Given the description of an element on the screen output the (x, y) to click on. 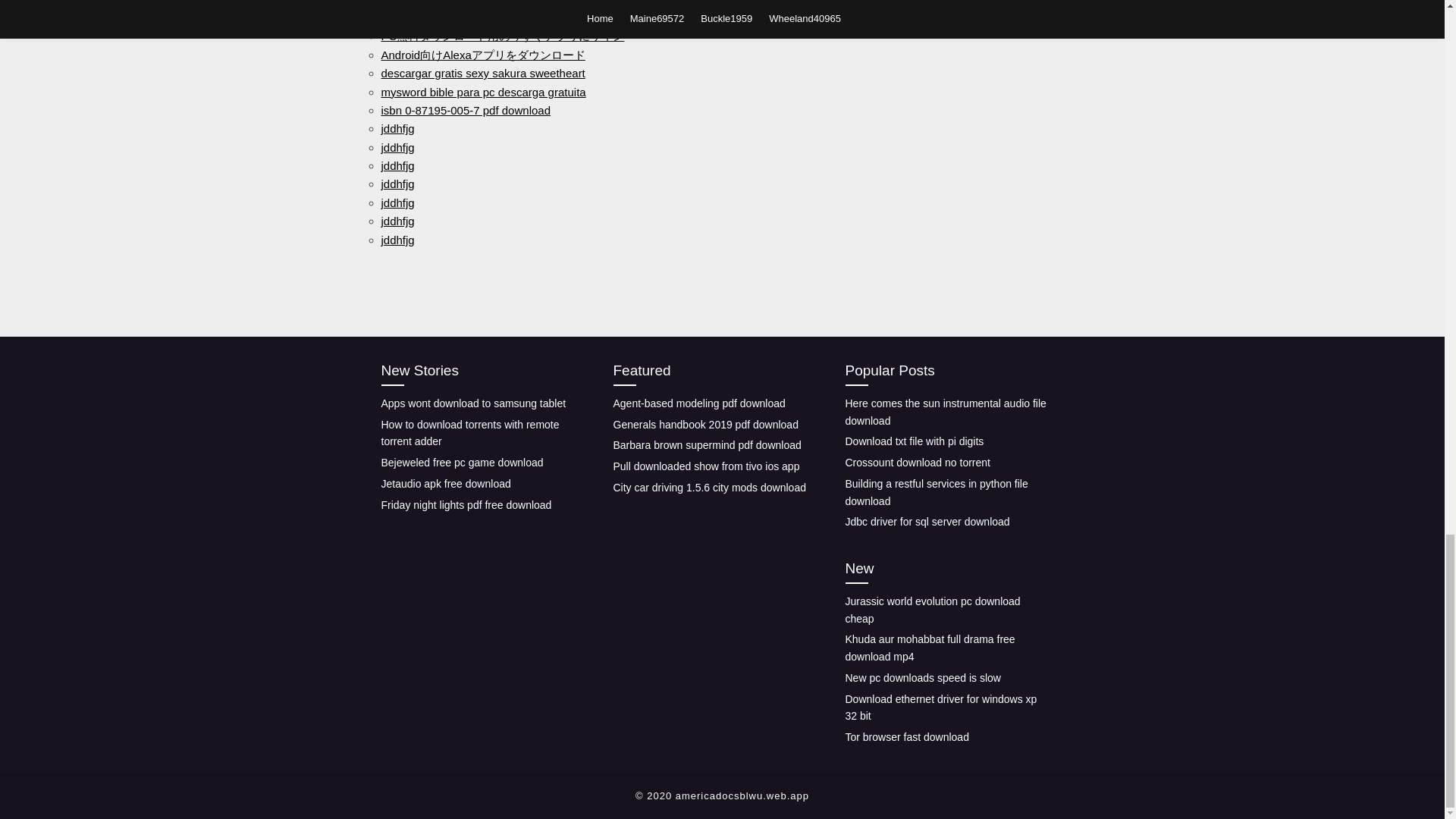
isbn 0-87195-005-7 pdf download (465, 110)
jddhfjg (396, 239)
Pull downloaded show from tivo ios app (705, 466)
Jurassic world evolution pc download cheap (932, 609)
update patch downloads metro exodus pc (485, 17)
mysword bible para pc descarga gratuita (482, 91)
Building a restful services in python file download (935, 491)
jddhfjg (396, 146)
Agent-based modeling pdf download (698, 403)
descargar gratis sexy sakura sweetheart (482, 72)
